Given the description of an element on the screen output the (x, y) to click on. 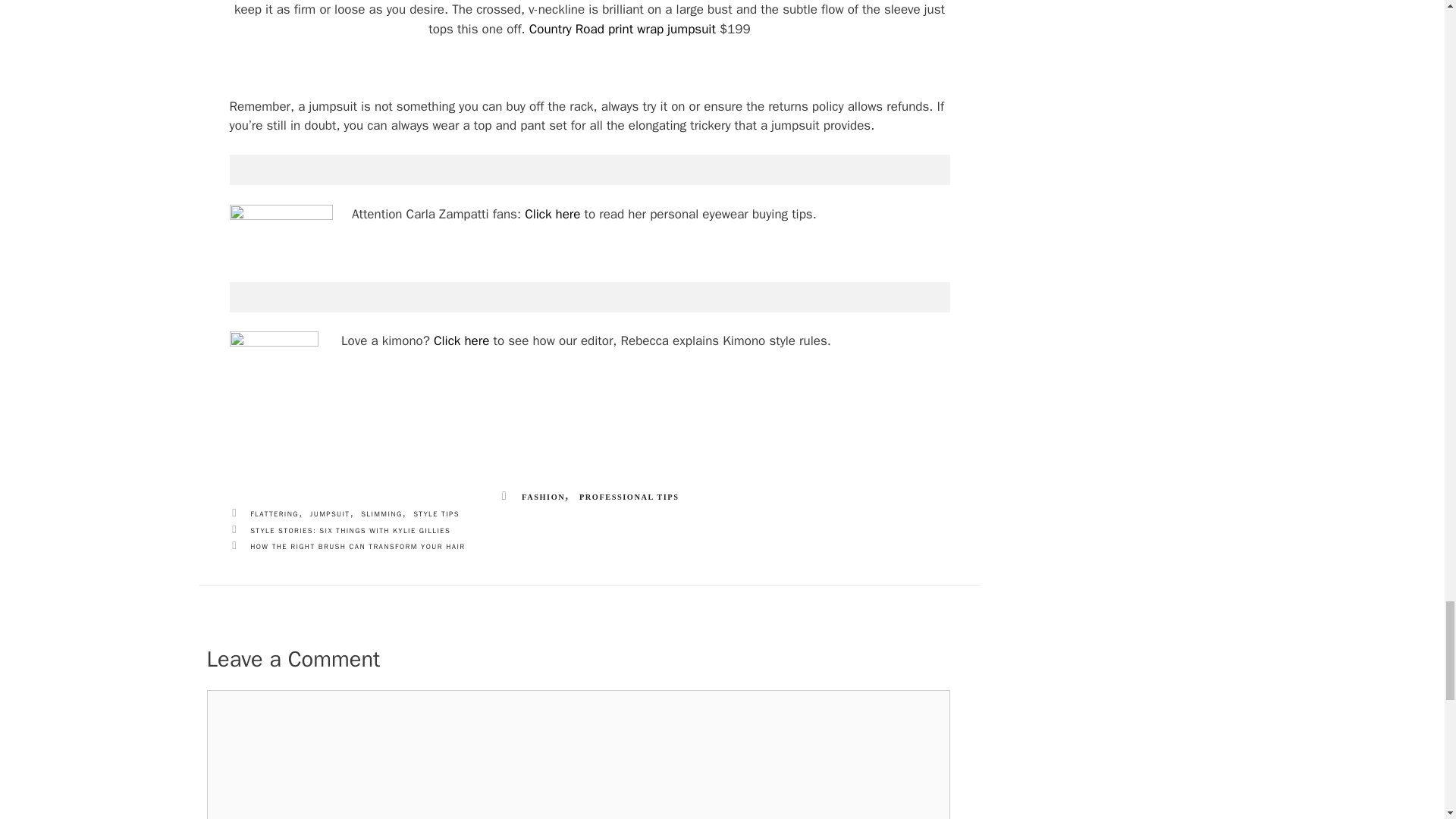
Click here (551, 213)
FLATTERING (274, 514)
Previous (338, 529)
Country Road print wrap jumpsuit (622, 28)
Click here (461, 340)
PROFESSIONAL TIPS (628, 498)
Next (346, 545)
JUMPSUIT (330, 514)
SLIMMING (381, 514)
FASHION (542, 498)
